Given the description of an element on the screen output the (x, y) to click on. 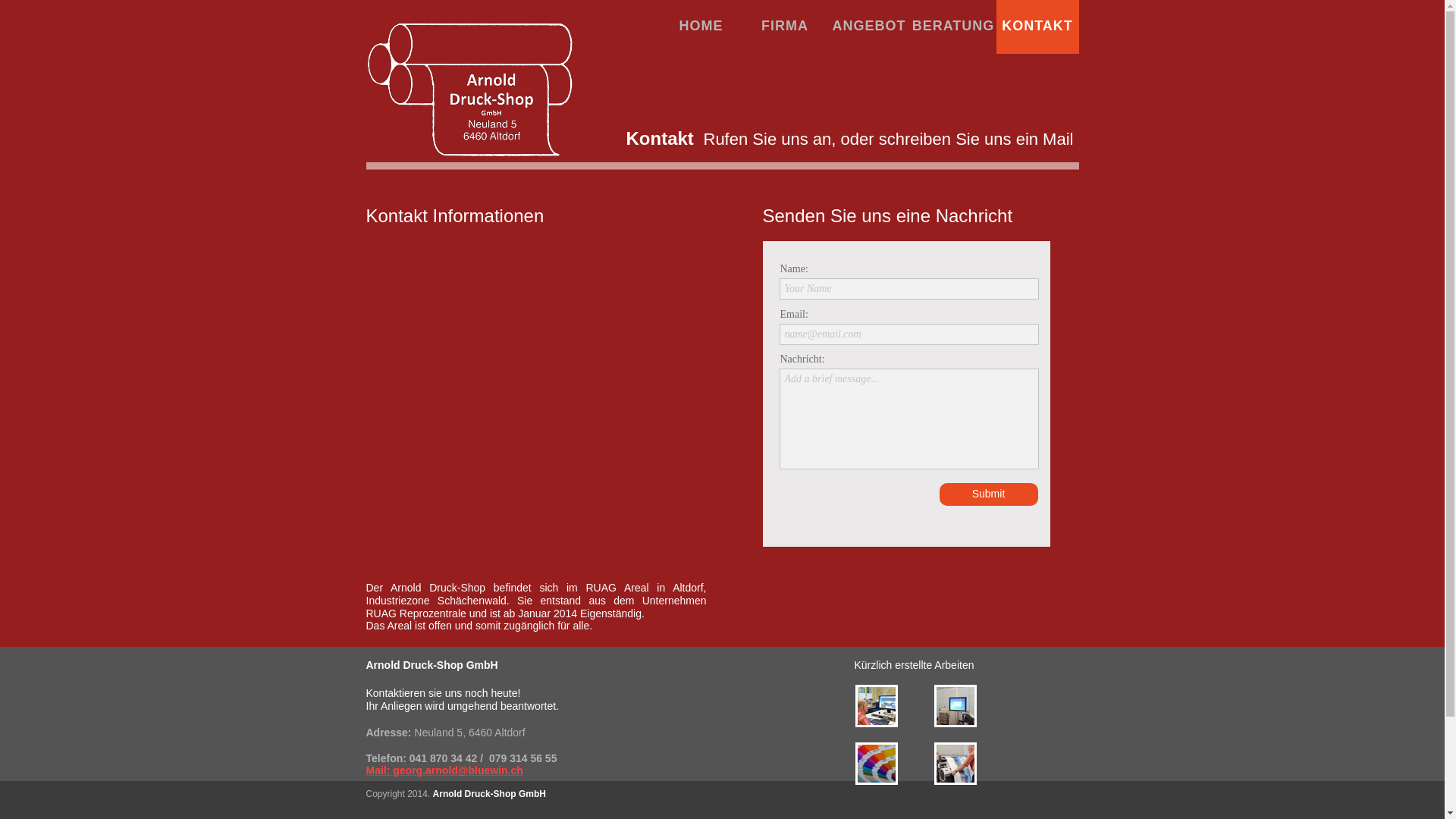
FIRMA Element type: text (784, 26)
Submit Element type: text (987, 494)
Mail: georg.arnold@bluewin.ch Element type: text (443, 770)
ANGEBOT Element type: text (869, 26)
KONTAKT Element type: text (1037, 26)
BERATUNG Element type: text (952, 26)
HOME Element type: text (700, 26)
